Given the description of an element on the screen output the (x, y) to click on. 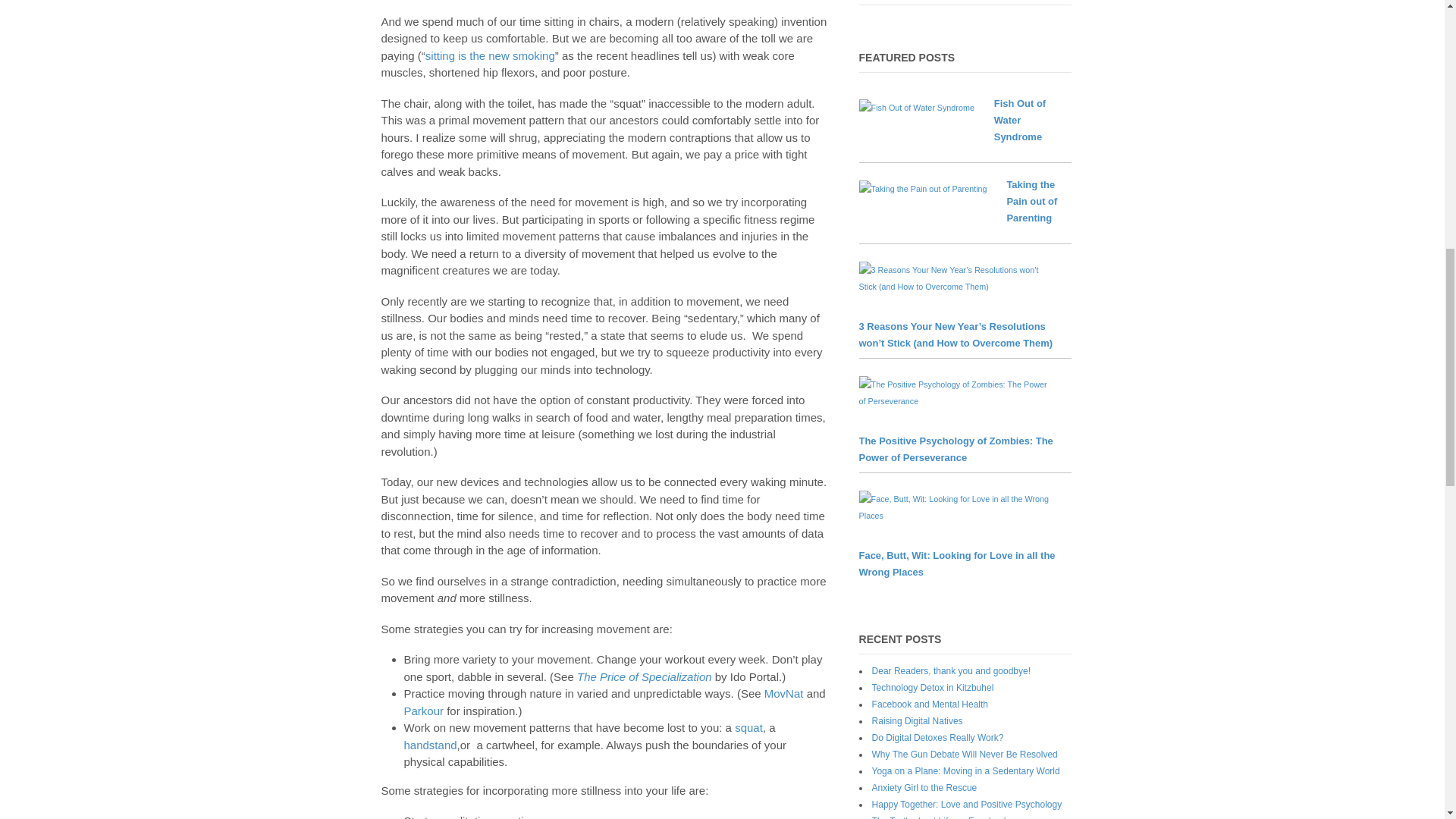
squat (748, 727)
MovNat (783, 693)
The Price of Specialization (643, 676)
sitting is the new smoking (489, 55)
handstand (430, 744)
Parkour (423, 710)
